Given the description of an element on the screen output the (x, y) to click on. 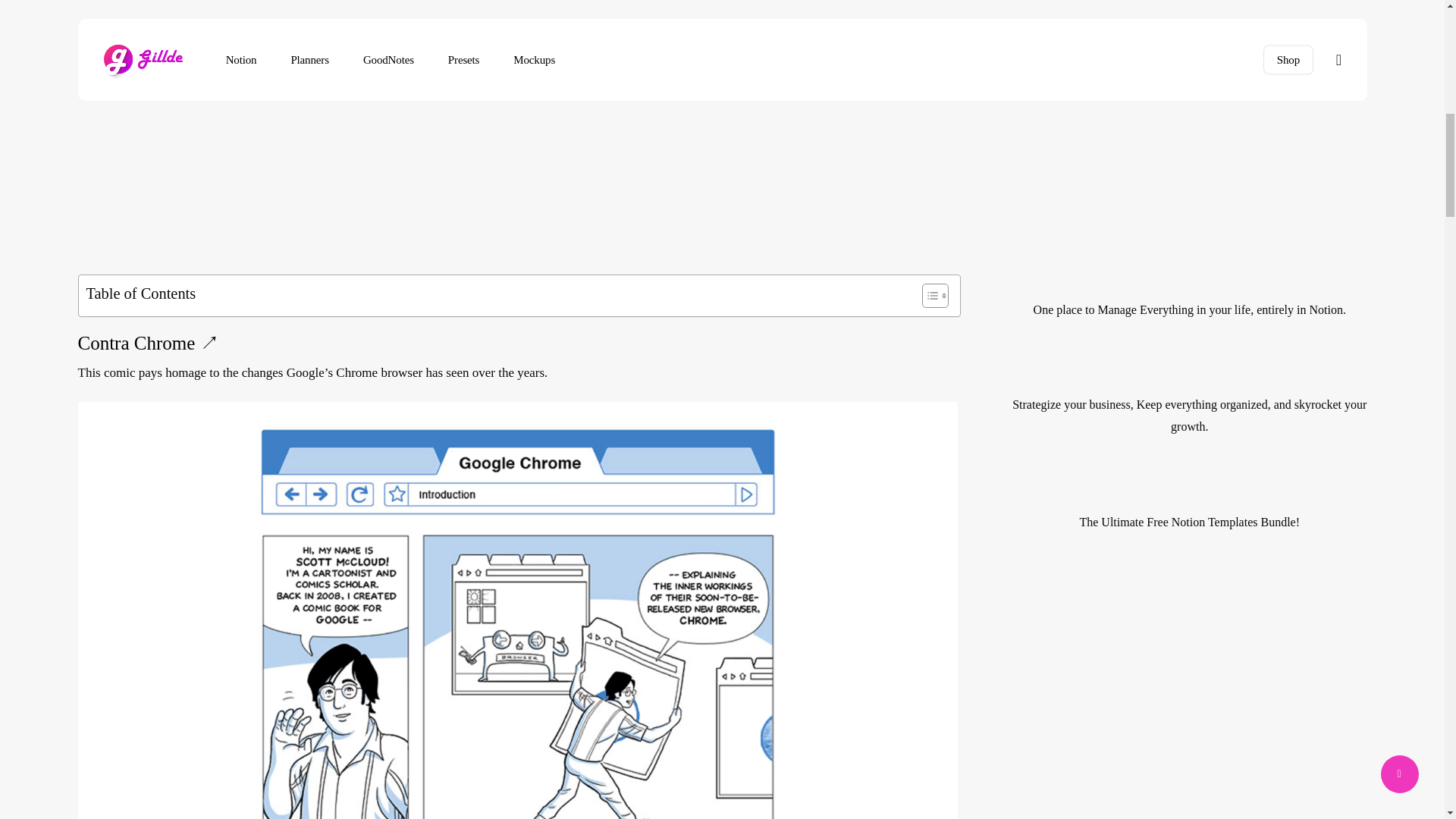
Contra Chrome (136, 344)
